Given the description of an element on the screen output the (x, y) to click on. 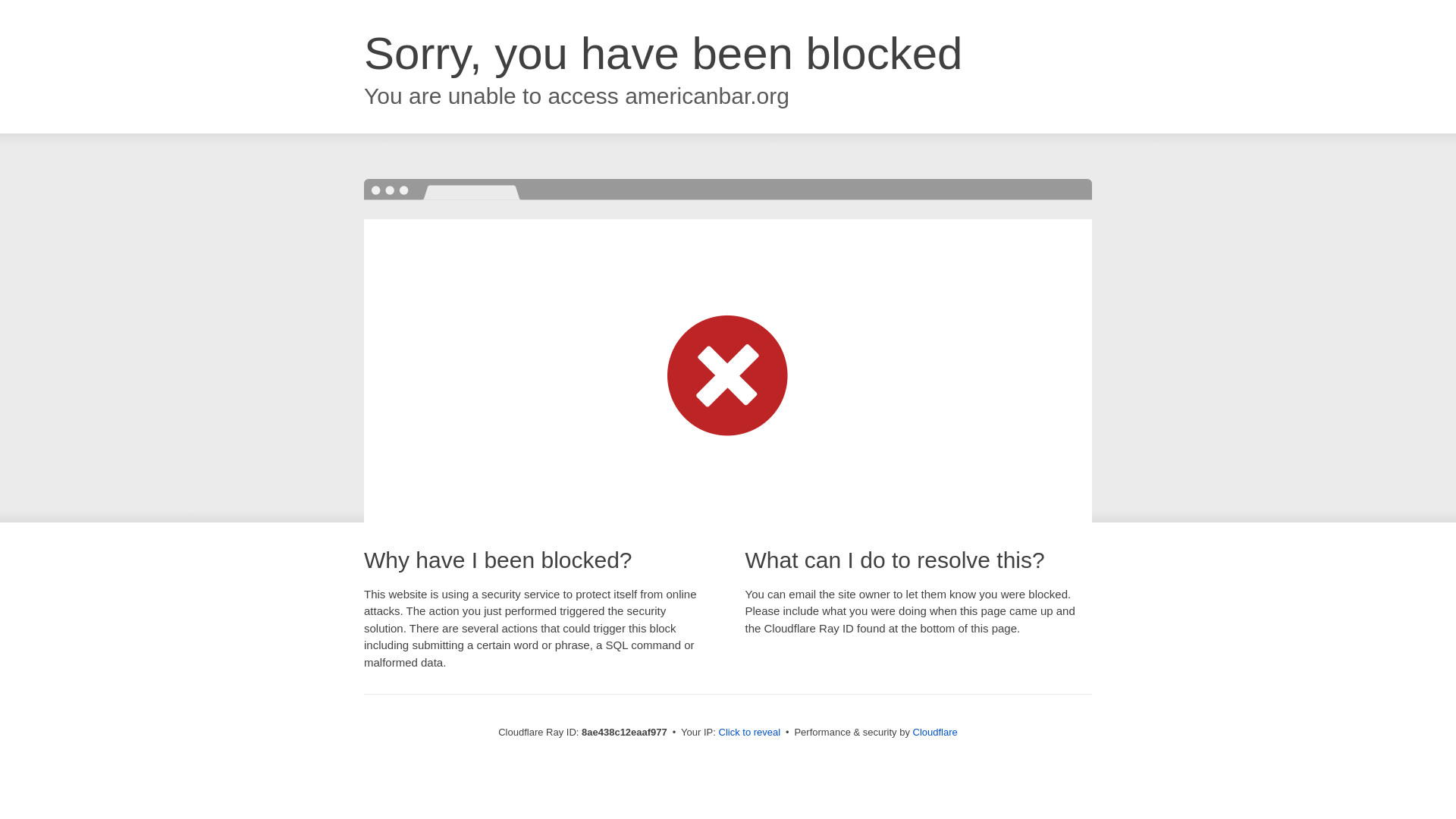
Cloudflare (935, 731)
Click to reveal (749, 732)
